Given the description of an element on the screen output the (x, y) to click on. 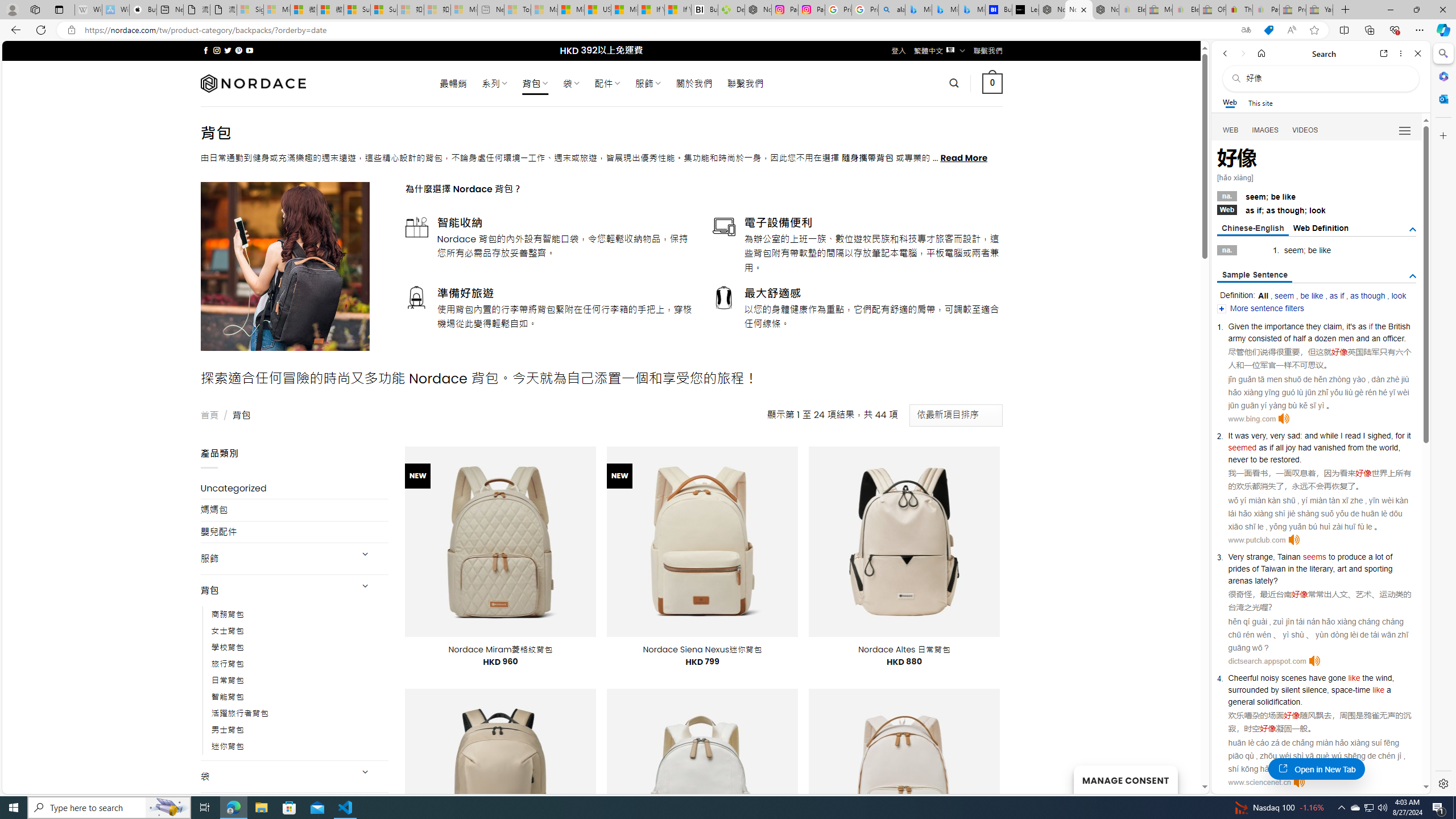
Microsoft account | Account Checkup - Sleeping (463, 9)
Microsoft Services Agreement - Sleeping (277, 9)
Buy iPad - Apple (143, 9)
